Given the description of an element on the screen output the (x, y) to click on. 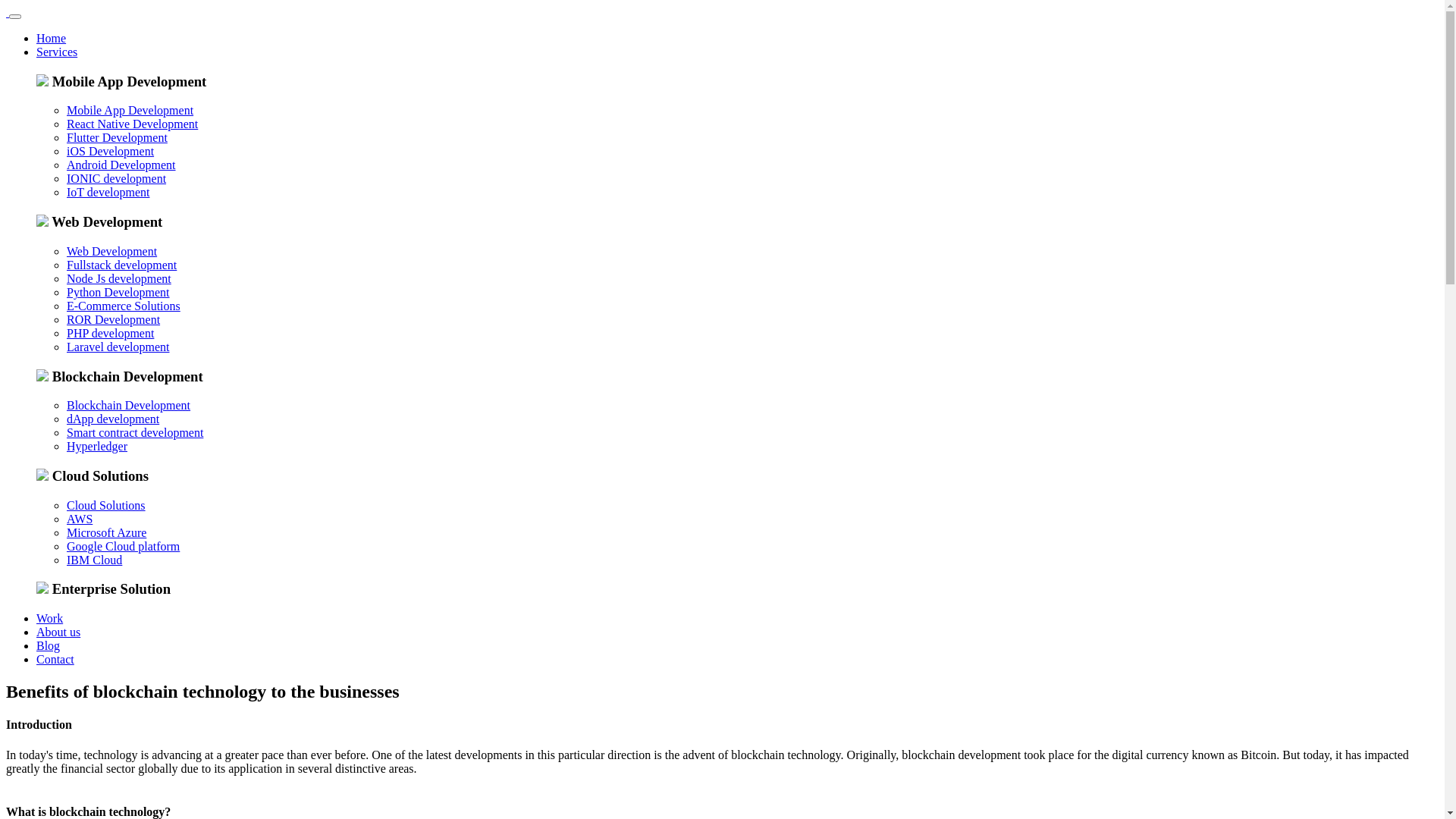
Home Element type: text (50, 37)
IONIC development Element type: text (116, 178)
Node Js development Element type: text (118, 278)
Microsoft Azure Element type: text (106, 532)
IoT development Element type: text (107, 191)
E-Commerce Solutions Element type: text (123, 305)
React Native Development Element type: text (131, 123)
Cloud Solutions Element type: text (105, 504)
Smart contract development Element type: text (134, 432)
Google Cloud platform Element type: text (122, 545)
IBM Cloud Element type: text (94, 559)
Fullstack development Element type: text (121, 264)
AWS Element type: text (79, 518)
Mobile App Development Element type: text (129, 109)
Android Development Element type: text (120, 164)
Blog Element type: text (47, 645)
Flutter Development Element type: text (116, 137)
iOS Development Element type: text (109, 150)
Contact Element type: text (55, 658)
dApp development Element type: text (112, 418)
Work Element type: text (49, 617)
About us Element type: text (58, 631)
Laravel development Element type: text (117, 346)
Services Element type: text (56, 51)
PHP development Element type: text (109, 332)
ROR Development Element type: text (113, 319)
Python Development Element type: text (117, 291)
Blockchain Development Element type: text (128, 404)
Web Development Element type: text (111, 250)
Hyperledger Element type: text (96, 445)
